Given the description of an element on the screen output the (x, y) to click on. 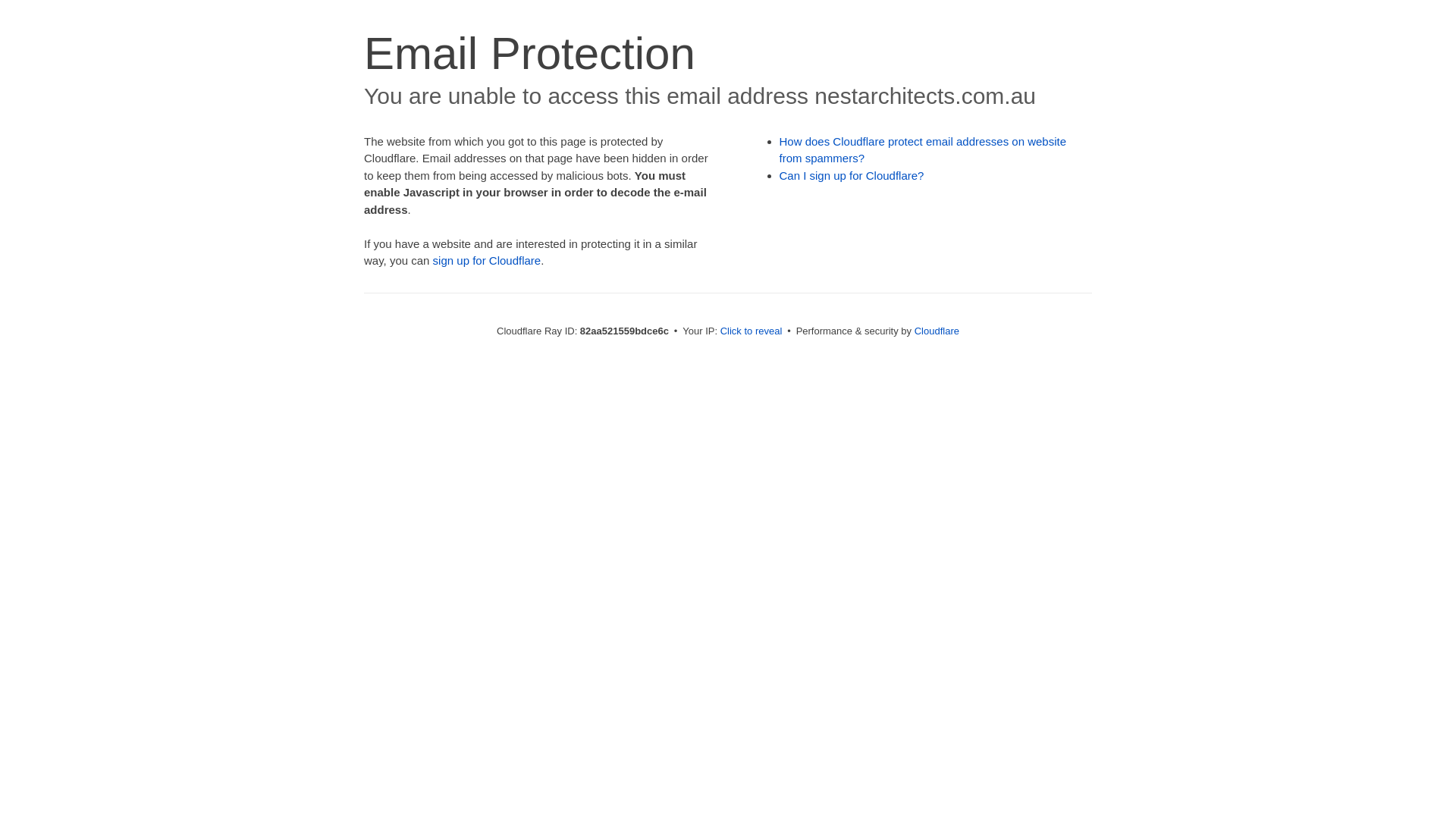
Can I sign up for Cloudflare? Element type: text (851, 175)
Click to reveal Element type: text (751, 330)
sign up for Cloudflare Element type: text (487, 260)
Cloudflare Element type: text (936, 330)
